Given the description of an element on the screen output the (x, y) to click on. 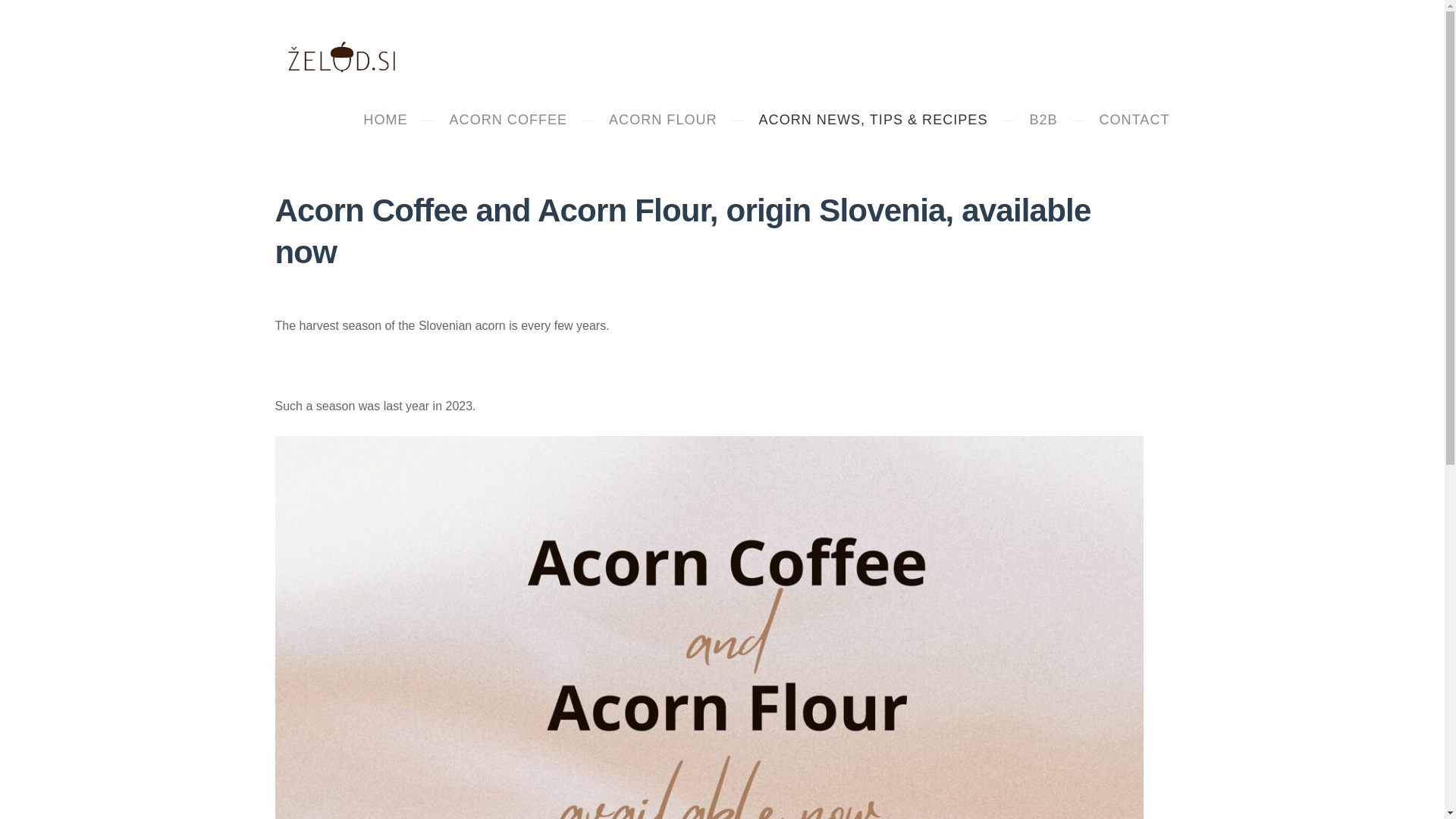
CONTACT (1133, 119)
HOME (385, 119)
ACORN COFFEE (508, 119)
B2B (1042, 119)
ACORN FLOUR (662, 119)
